Given the description of an element on the screen output the (x, y) to click on. 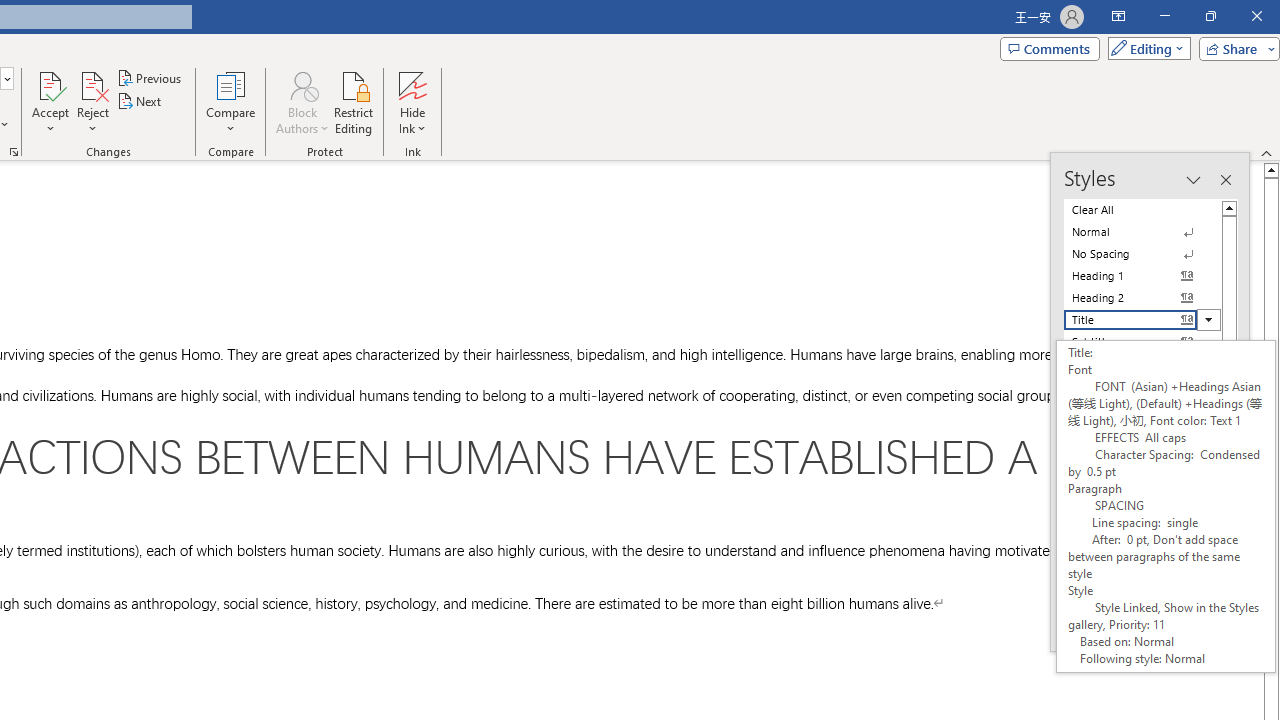
Class: NetUIButton (1146, 624)
Line up (1271, 169)
Book Title (1142, 539)
Intense Quote (1142, 473)
Next (140, 101)
Accept and Move to Next (50, 84)
Emphasis (1142, 385)
No Spacing (1142, 253)
